Given the description of an element on the screen output the (x, y) to click on. 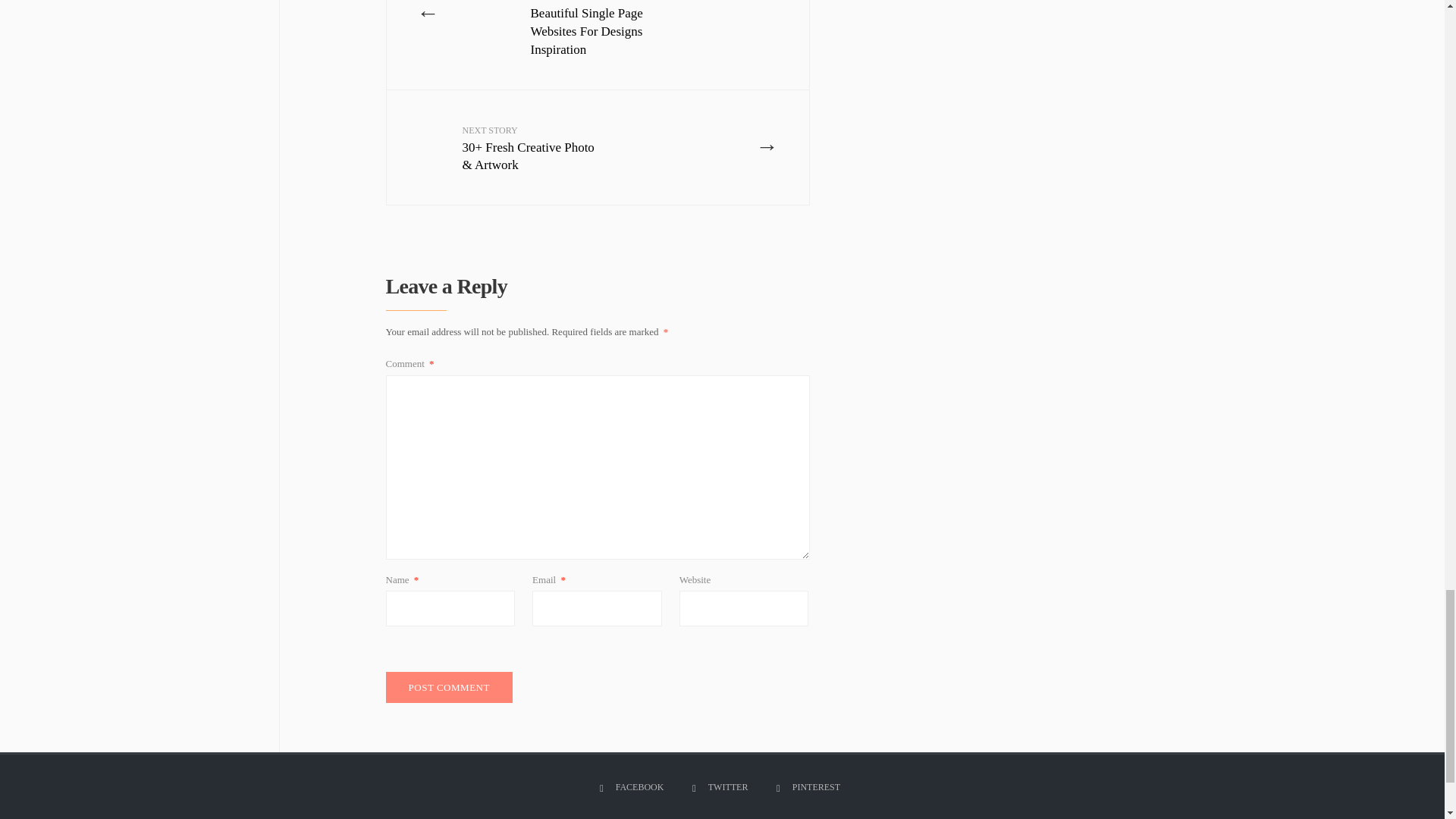
Post Comment (448, 687)
